Given the description of an element on the screen output the (x, y) to click on. 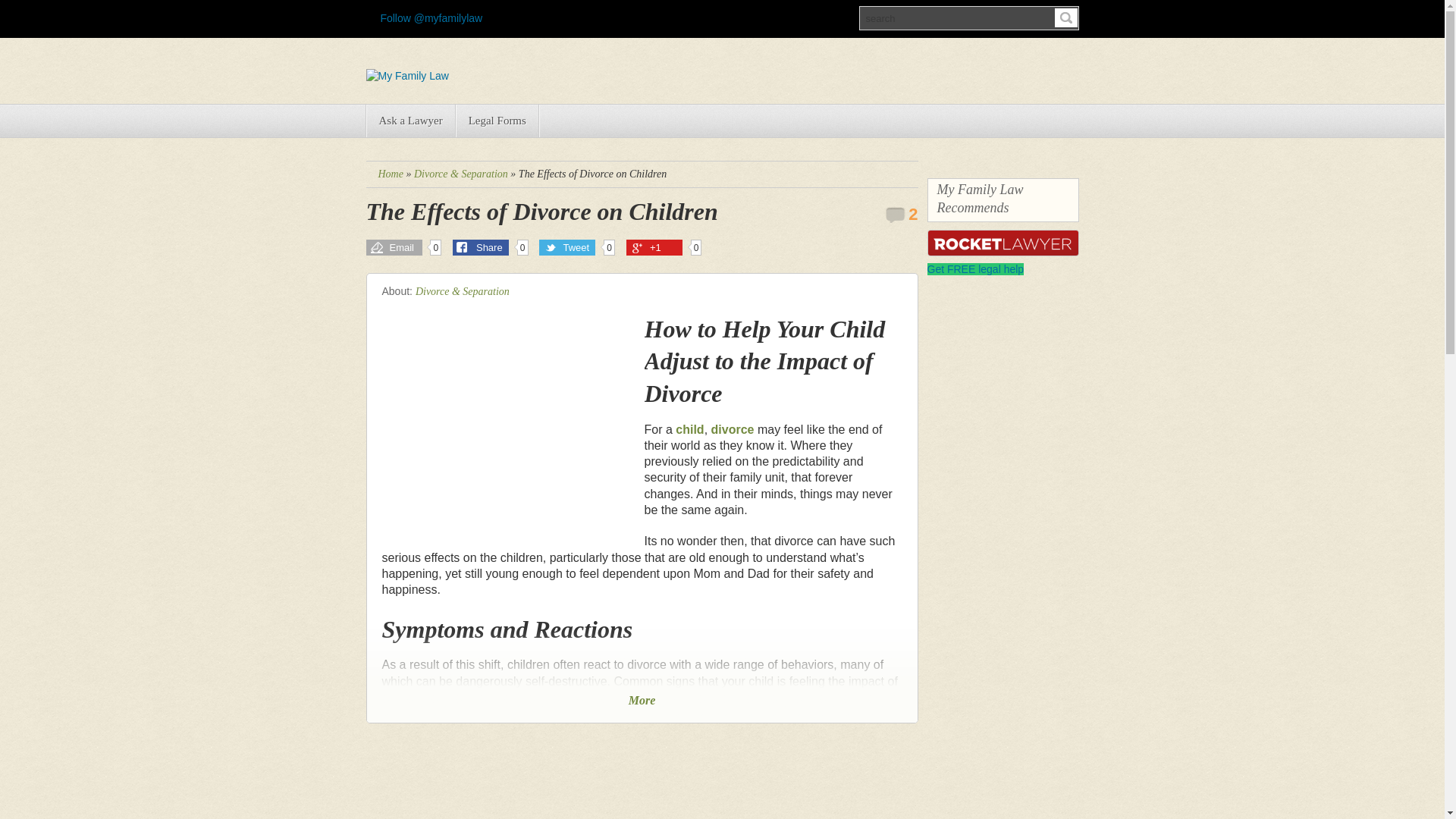
More (642, 699)
divorce (732, 429)
Tweet 0 (576, 247)
Home (390, 173)
search (968, 17)
Ask a Lawyer (410, 120)
child (689, 429)
The Effects of Divorce on Children (541, 211)
Email 0 (403, 247)
Get FREE legal help (974, 268)
2 (901, 214)
Share 0 (490, 247)
Legal Forms (497, 120)
